Given the description of an element on the screen output the (x, y) to click on. 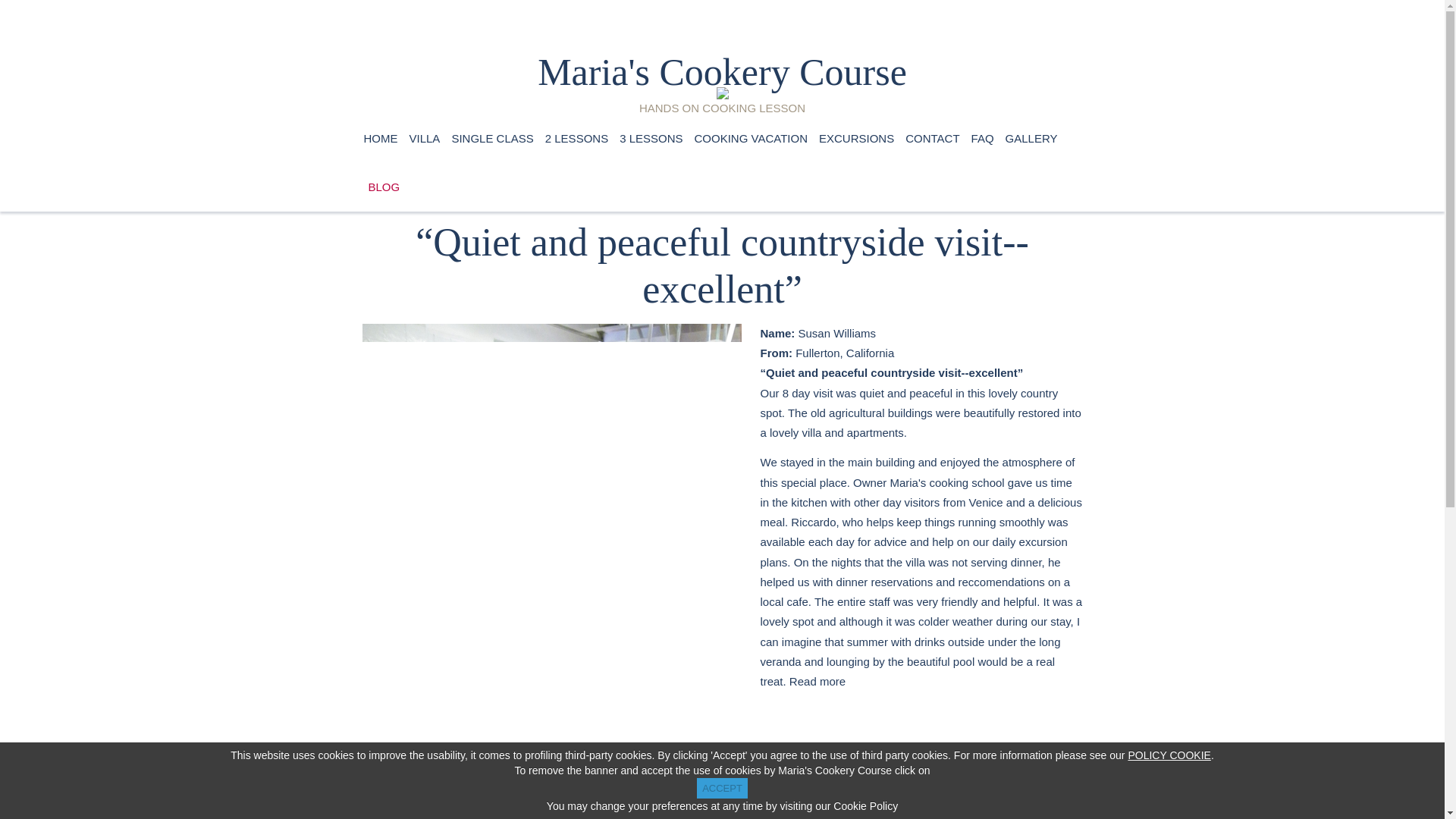
2 LESSONS (576, 138)
CONTACT (932, 138)
ACCEPT (722, 788)
3 LESSONS (650, 138)
Read more (817, 680)
GALLERY (1031, 138)
EXCURSIONS (855, 138)
SINGLE CLASS (491, 138)
POLICY COOKIE (1167, 755)
informativa Cookie (1167, 755)
COOKING VACATION (751, 138)
